Given the description of an element on the screen output the (x, y) to click on. 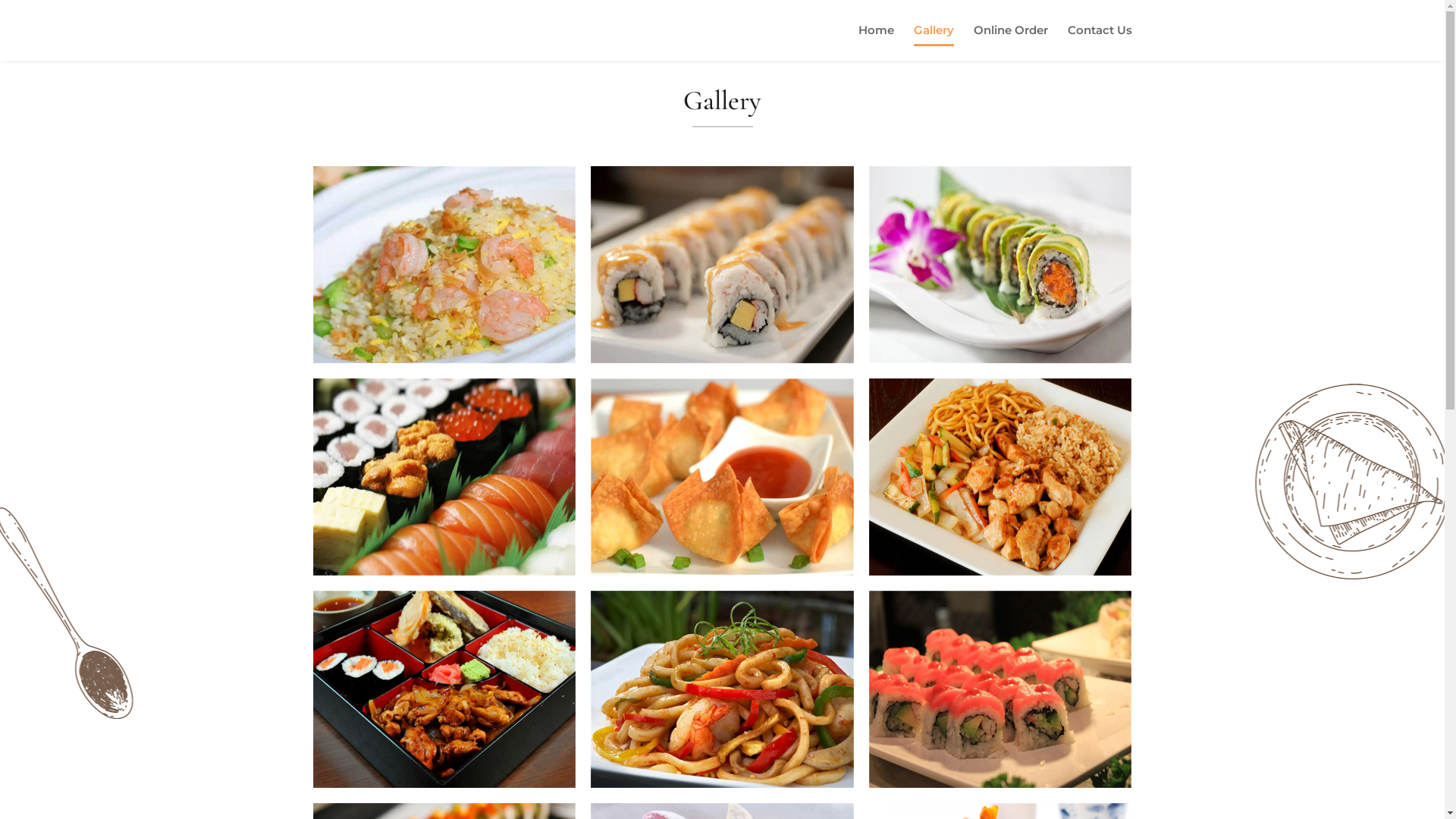
11e0706b9811f2d26cdef5a0f462f5796 Element type: hover (443, 264)
Contact Us Element type: text (1099, 42)
Online Order Element type: text (1010, 42)
Home Element type: text (876, 42)
Gallery Element type: text (933, 42)
